Given the description of an element on the screen output the (x, y) to click on. 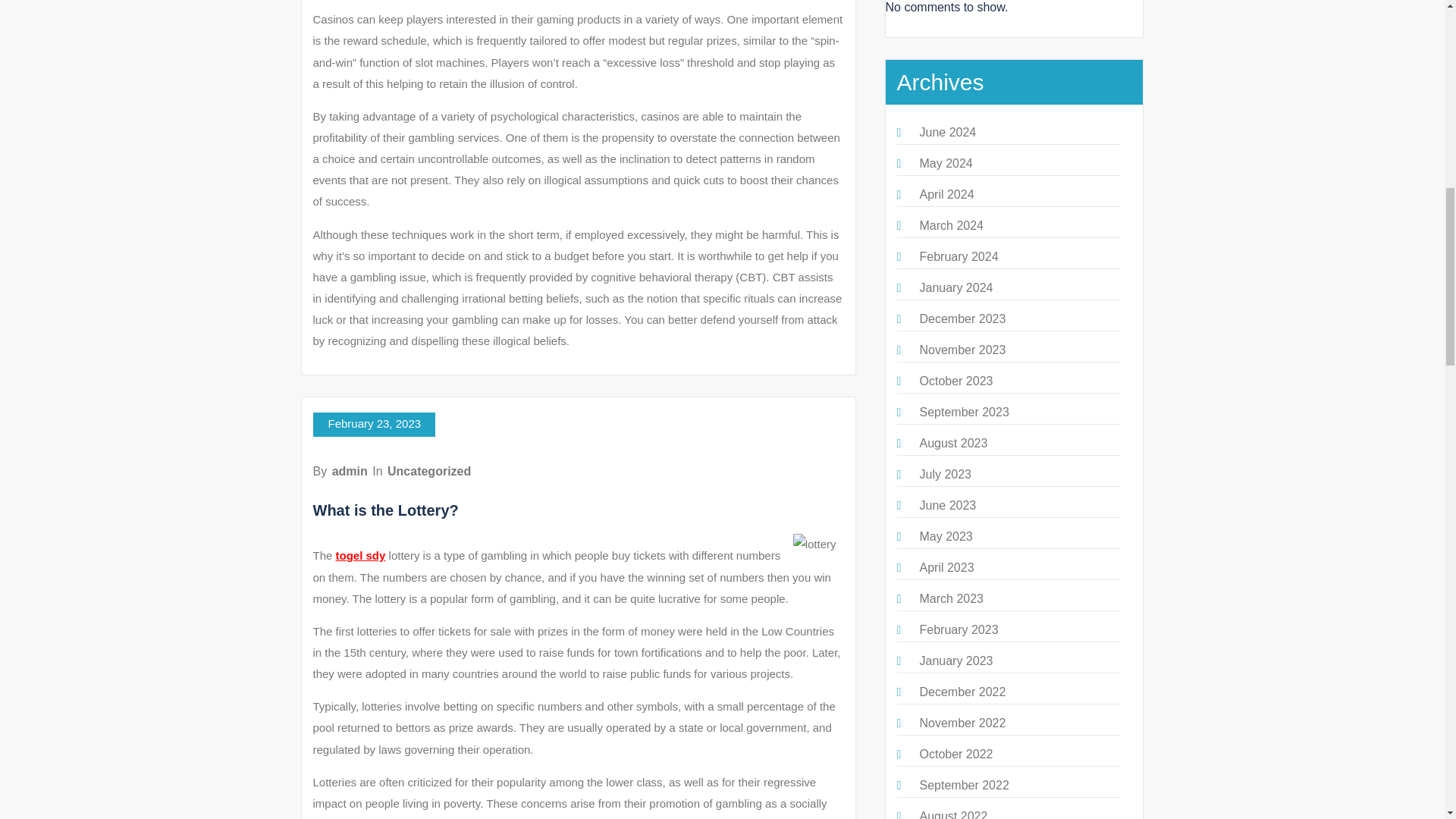
December 2023 (962, 318)
admin (349, 471)
September 2023 (963, 411)
togel sdy (360, 554)
June 2024 (946, 132)
February 2024 (957, 256)
May 2024 (945, 163)
April 2024 (946, 194)
April 2023 (946, 567)
February 23, 2023 (374, 424)
March 2024 (951, 225)
November 2023 (962, 349)
Uncategorized (428, 471)
What is the Lottery? (385, 510)
June 2023 (946, 504)
